Given the description of an element on the screen output the (x, y) to click on. 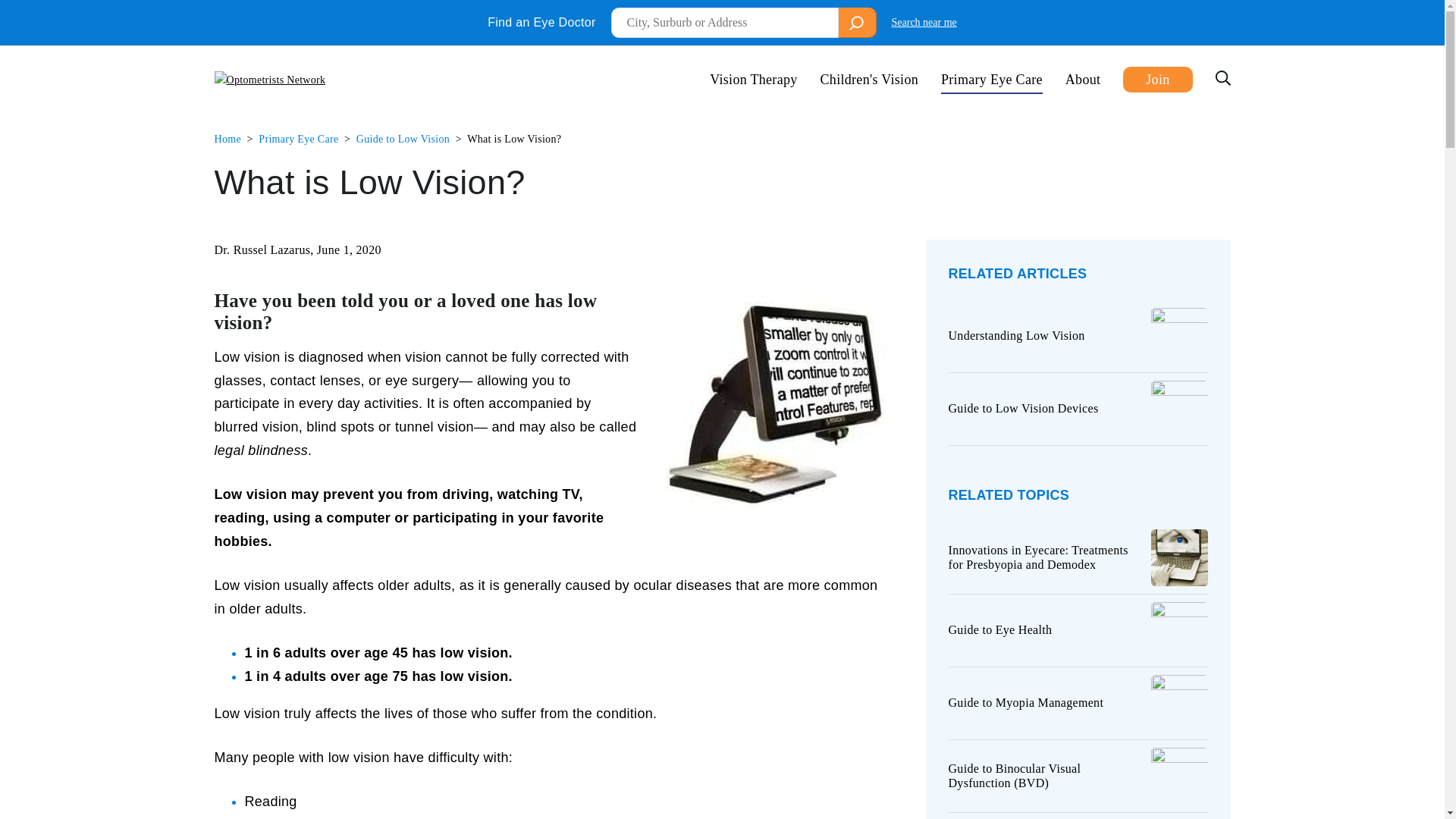
About (1082, 79)
Primary Eye Care (991, 79)
Guide to Myopia Management (1077, 703)
Guide to Low Vision Devices (1077, 408)
Guide to Eye Health (1077, 630)
Guide to Low Vision (402, 138)
Vision Therapy (753, 79)
Join (1157, 79)
Primary Eye Care (298, 138)
